Given the description of an element on the screen output the (x, y) to click on. 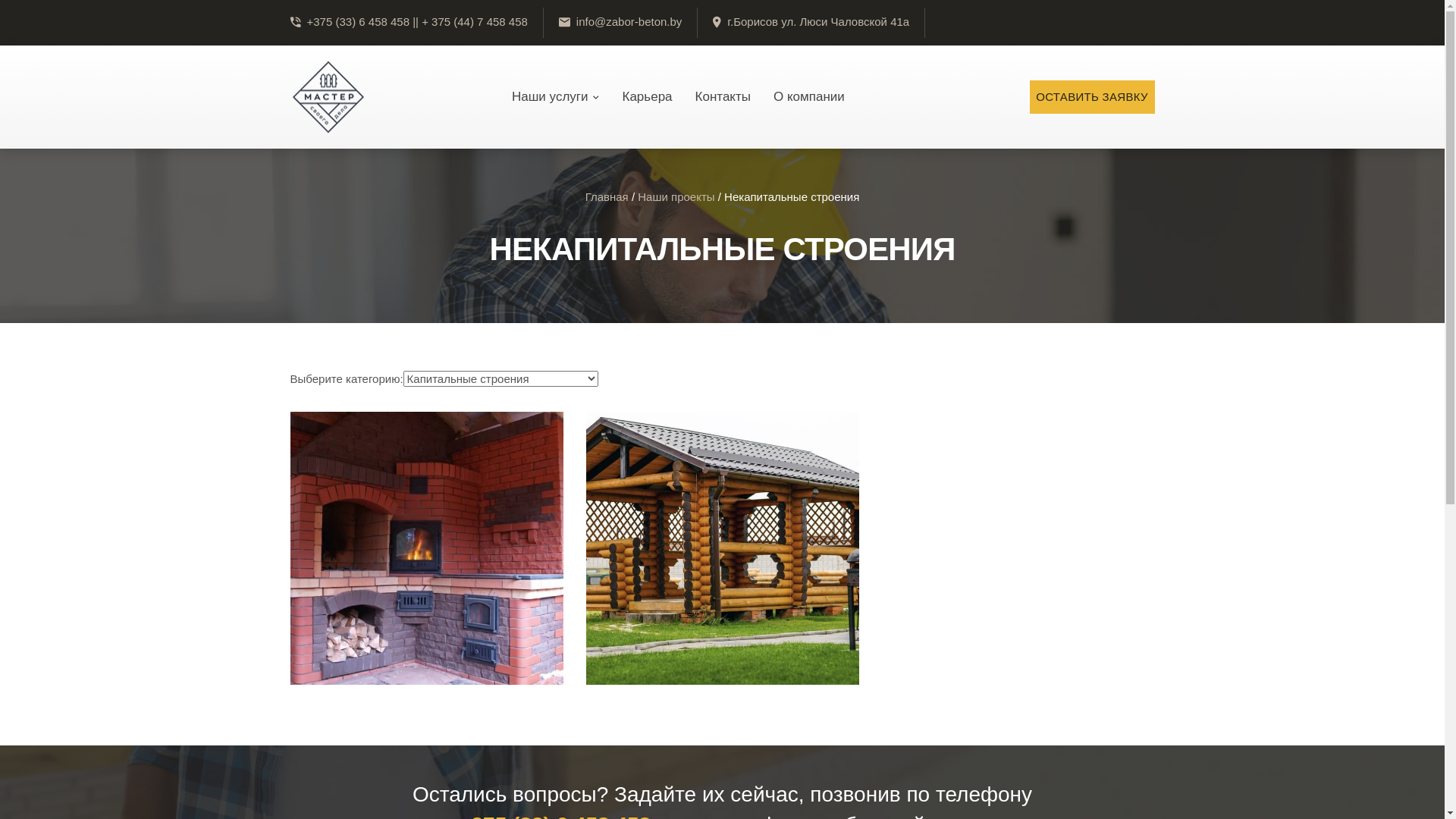
info@zabor-beton.by Element type: text (628, 21)
zabor-beton Element type: hover (327, 96)
